Given the description of an element on the screen output the (x, y) to click on. 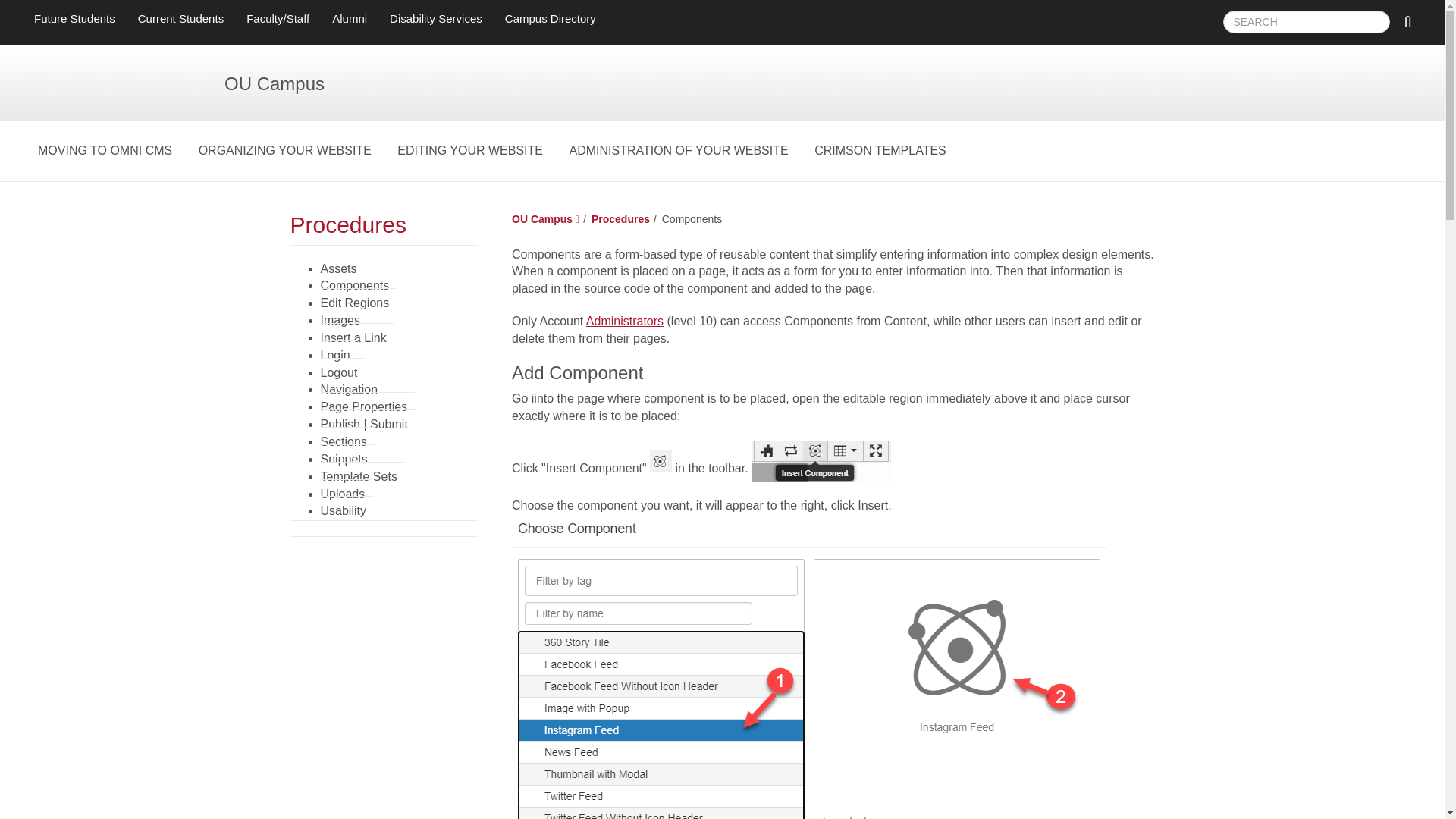
Campus Directory (550, 18)
Editing Your Website Dropdown Menu (470, 150)
Organizing Your Website Dropdown Menu (284, 150)
Office of Admissions (74, 18)
Future Students (74, 18)
EDITING YOUR WEBSITE (470, 150)
Moving to Omni CMS Dropdown Menu (104, 150)
MOVING TO OMNI CMS (104, 150)
San Diego State University (120, 83)
Disability Services (435, 18)
Administration of Your Website Dropdown Menu (678, 150)
ORGANIZING YOUR WEBSITE (284, 150)
OU Campus (274, 83)
Current Students (180, 18)
Alumni (349, 18)
